Given the description of an element on the screen output the (x, y) to click on. 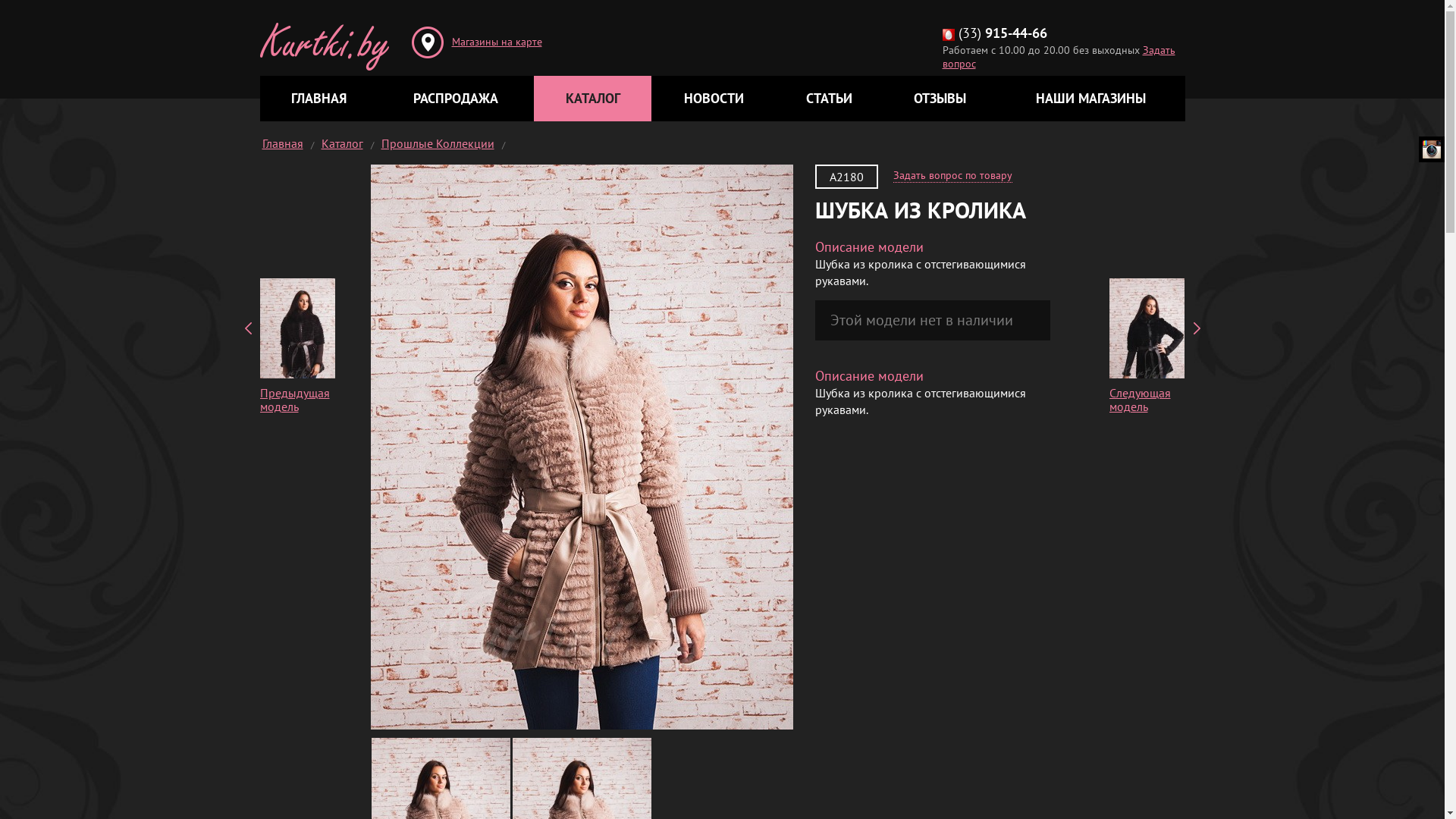
logo Element type: hover (323, 35)
